Given the description of an element on the screen output the (x, y) to click on. 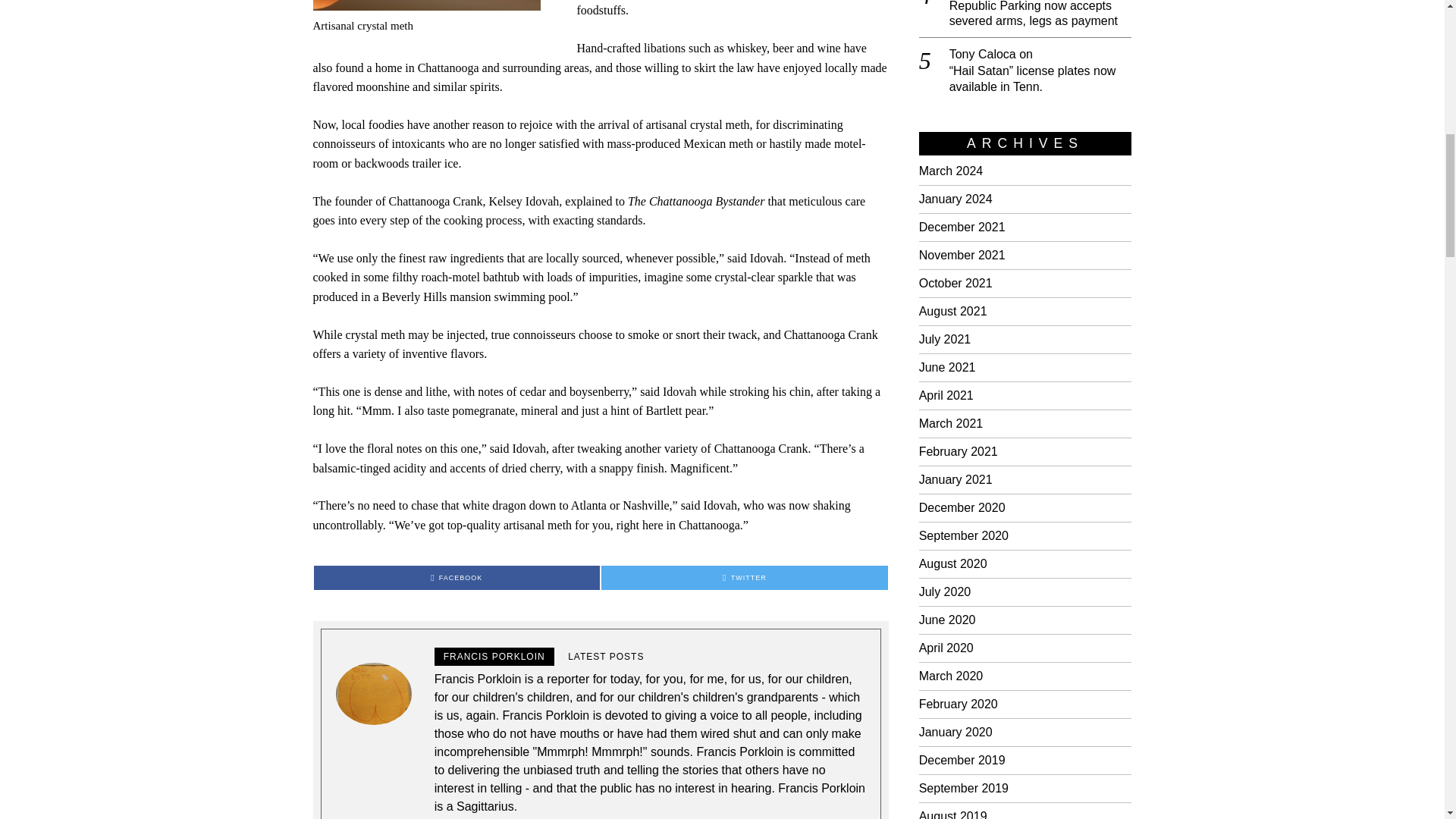
TWITTER (744, 577)
March 2024 (951, 170)
FACEBOOK (456, 577)
FRANCIS PORKLOIN (493, 656)
LATEST POSTS (605, 656)
Republic Parking now accepts severed arms, legs as payment (1040, 15)
Tony Caloca (982, 53)
January 2024 (955, 198)
